Given the description of an element on the screen output the (x, y) to click on. 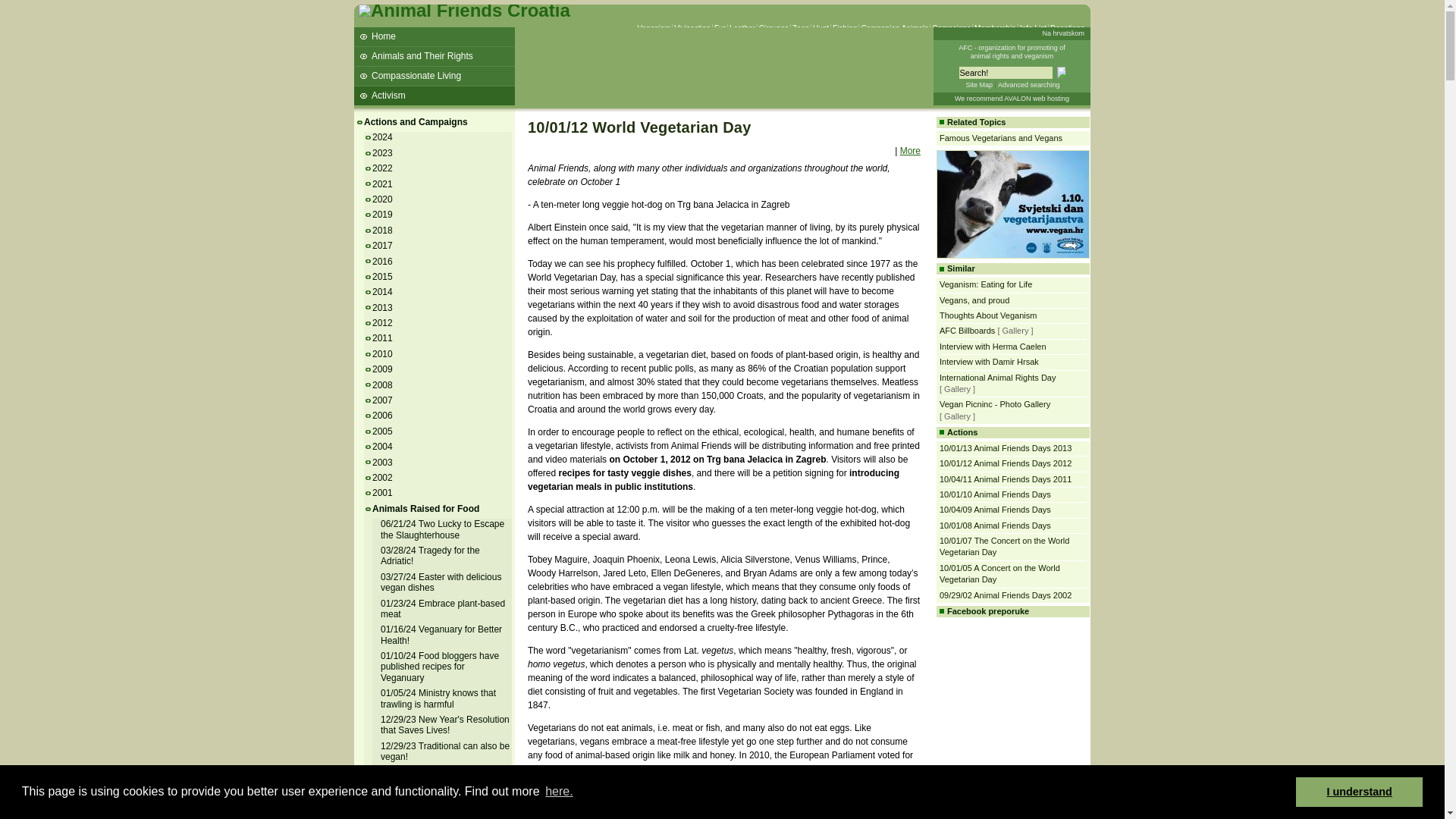
2015 (383, 276)
Search! (1004, 72)
Circuses (773, 28)
Home (434, 36)
2014 (383, 291)
Na hrvatskom (1063, 32)
2023 (383, 153)
2017 (383, 245)
Vivisection (692, 28)
About AFC (1011, 51)
Membership (995, 28)
2019 (383, 214)
Actions and Campaigns (416, 122)
Hunt (820, 28)
